Given the description of an element on the screen output the (x, y) to click on. 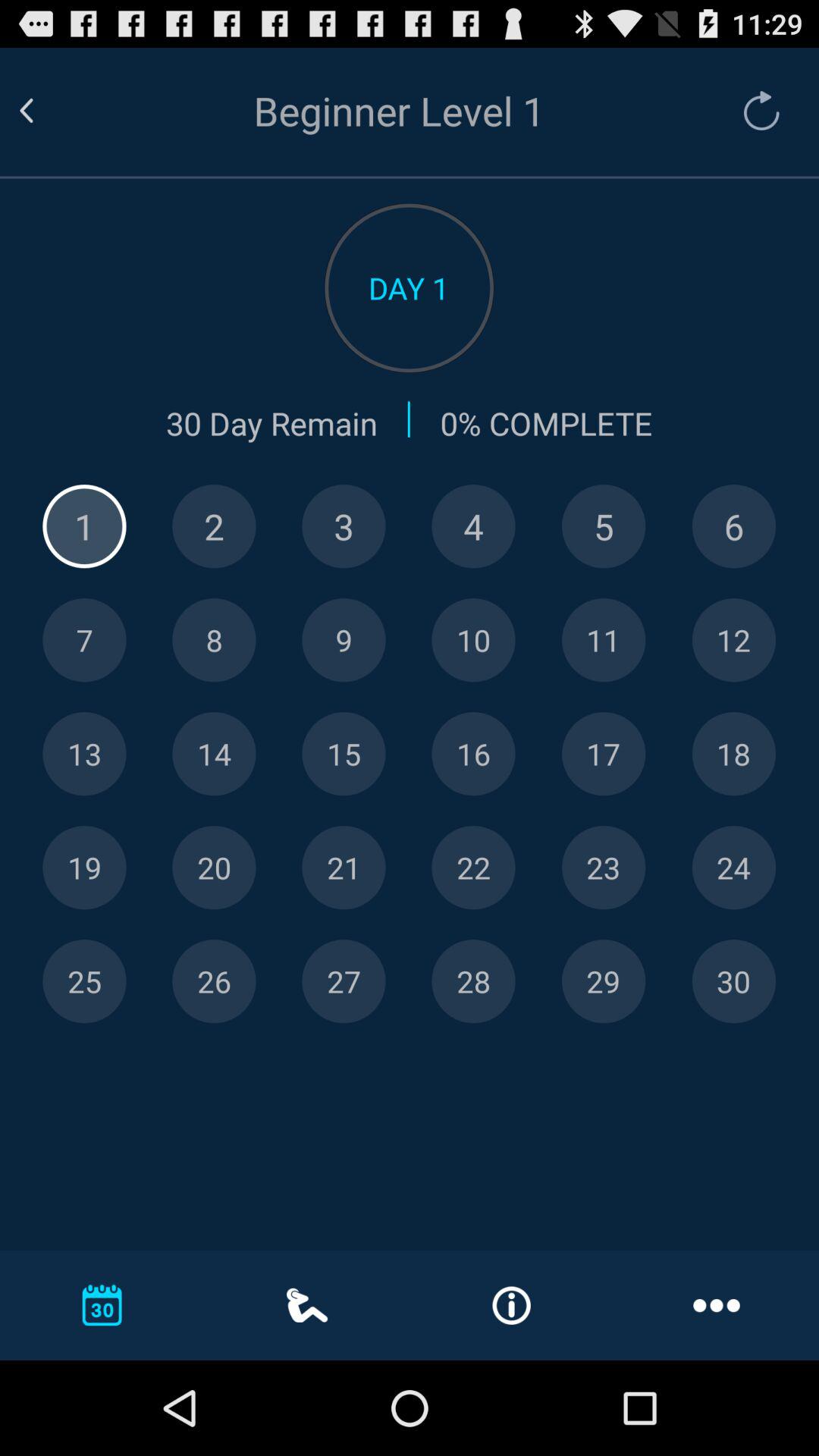
select specific day (213, 639)
